Given the description of an element on the screen output the (x, y) to click on. 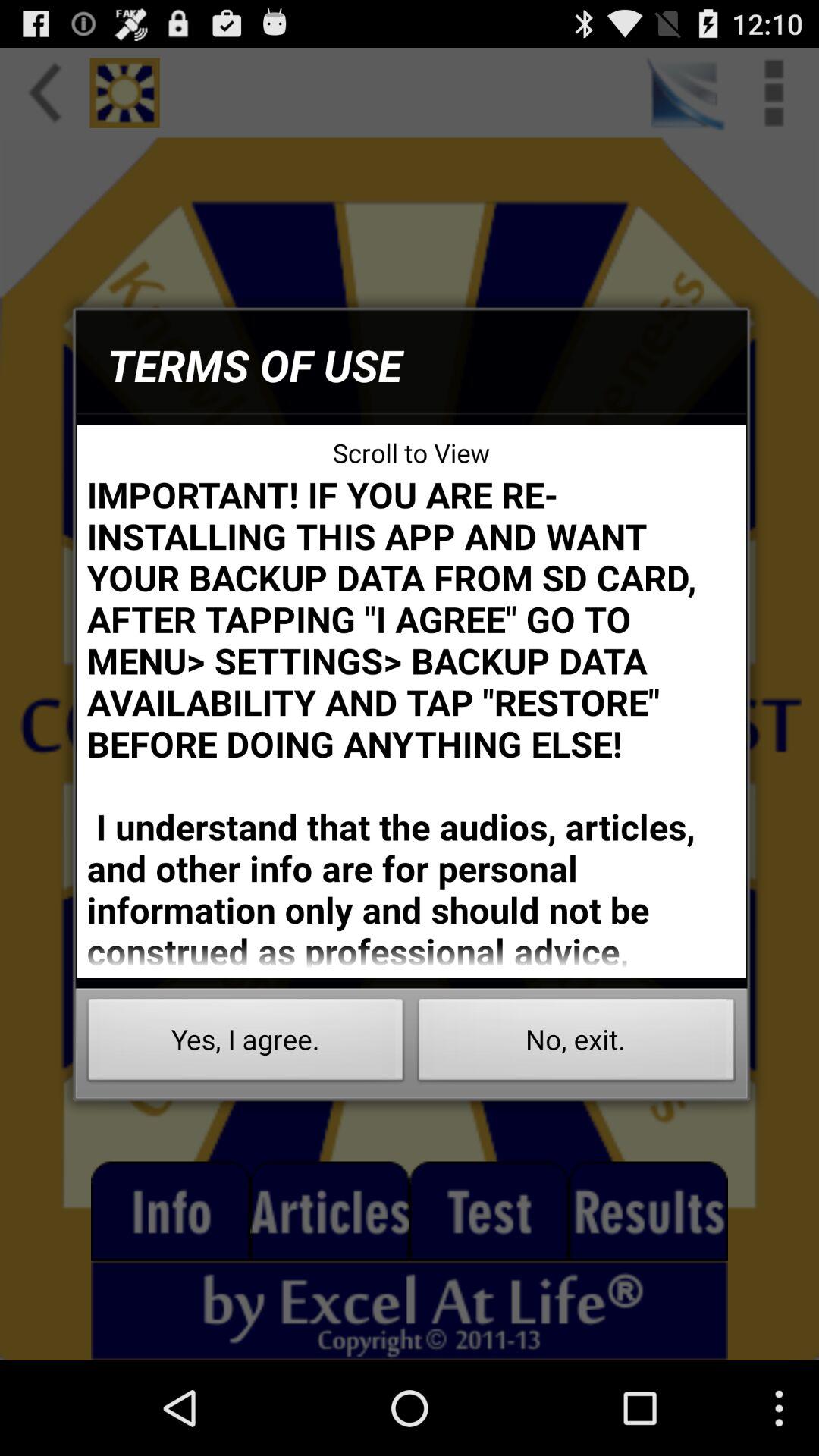
flip until the no, exit. (576, 1044)
